Given the description of an element on the screen output the (x, y) to click on. 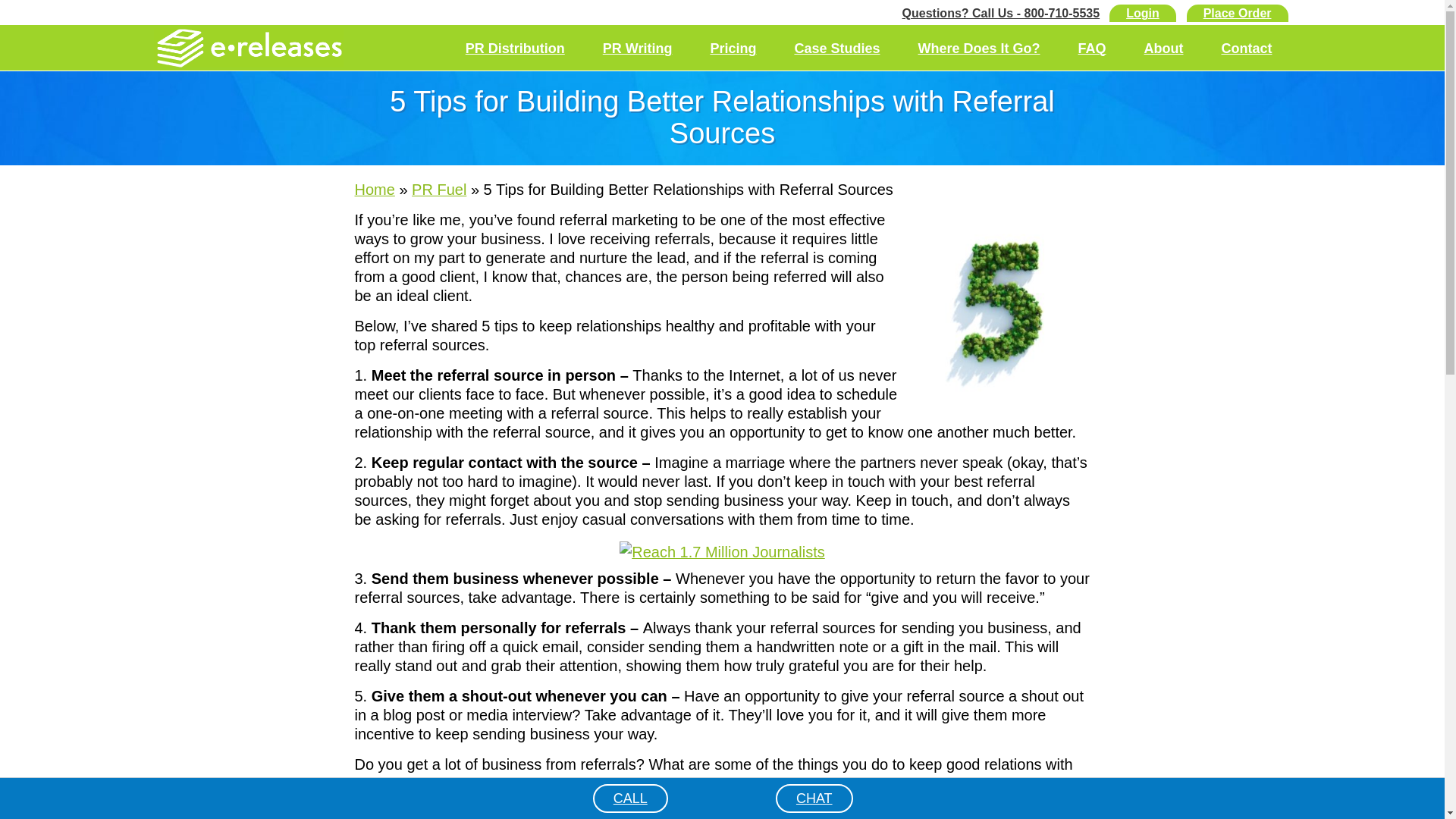
FAQ (1091, 48)
Case Studies (836, 48)
About (1163, 48)
PR Fuel (438, 189)
Pricing (732, 48)
Login (1142, 13)
Contact (1246, 48)
PR Distribution (514, 48)
PR Writing (637, 48)
Questions? Call Us - 800-710-5535 (1001, 12)
